Given the description of an element on the screen output the (x, y) to click on. 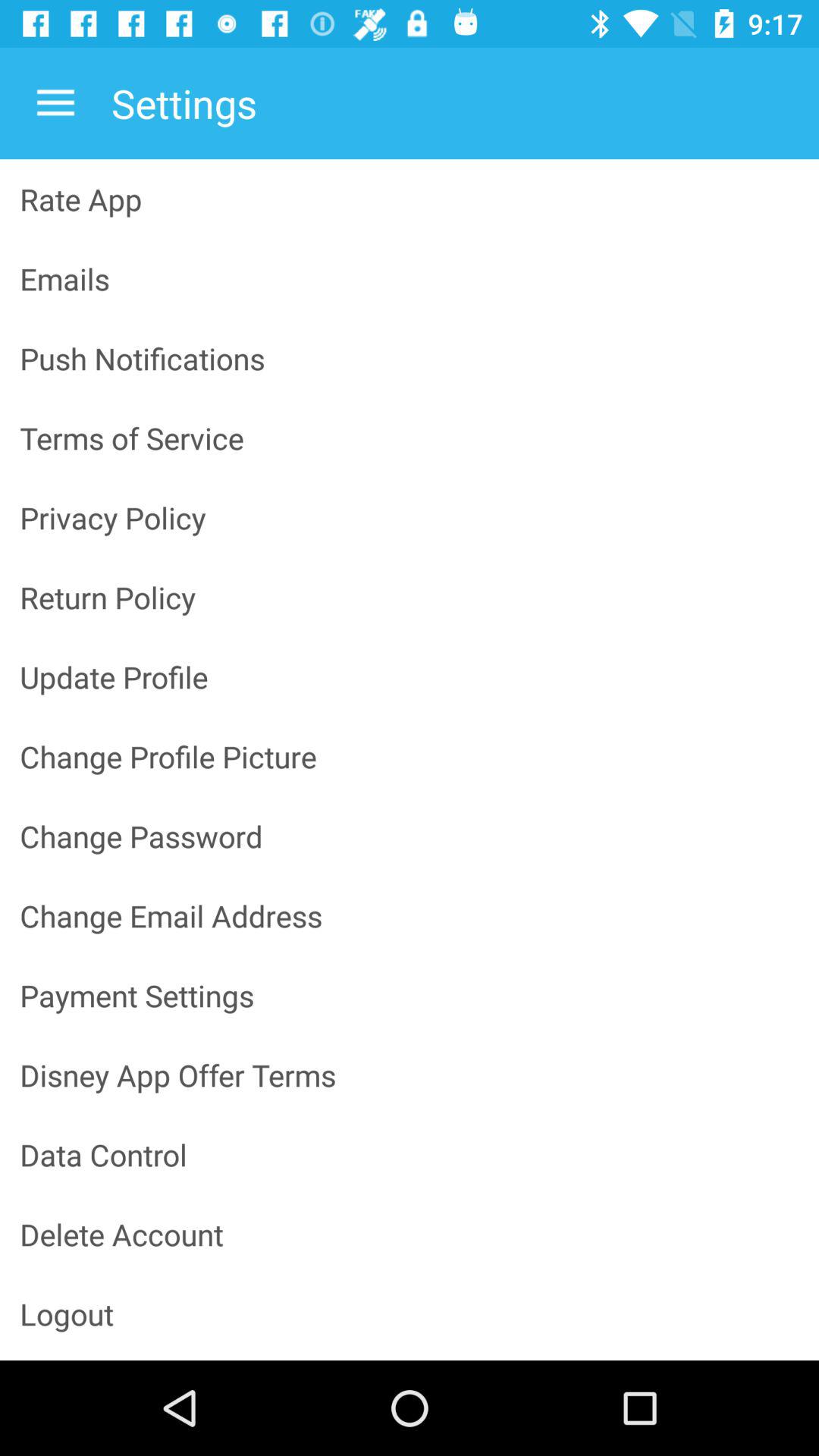
scroll until update profile item (409, 676)
